Given the description of an element on the screen output the (x, y) to click on. 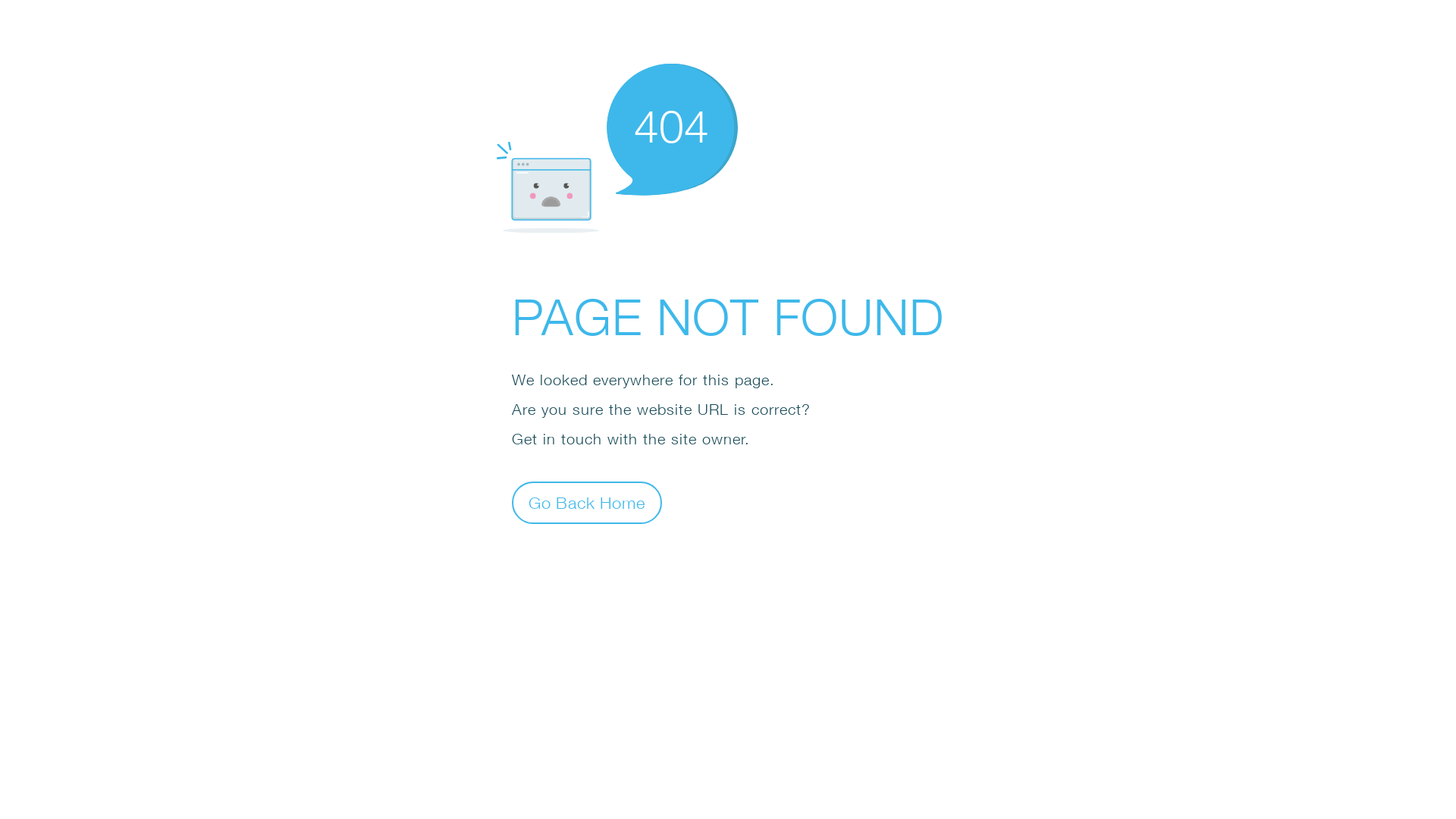
Go Back Home Element type: text (586, 502)
